Given the description of an element on the screen output the (x, y) to click on. 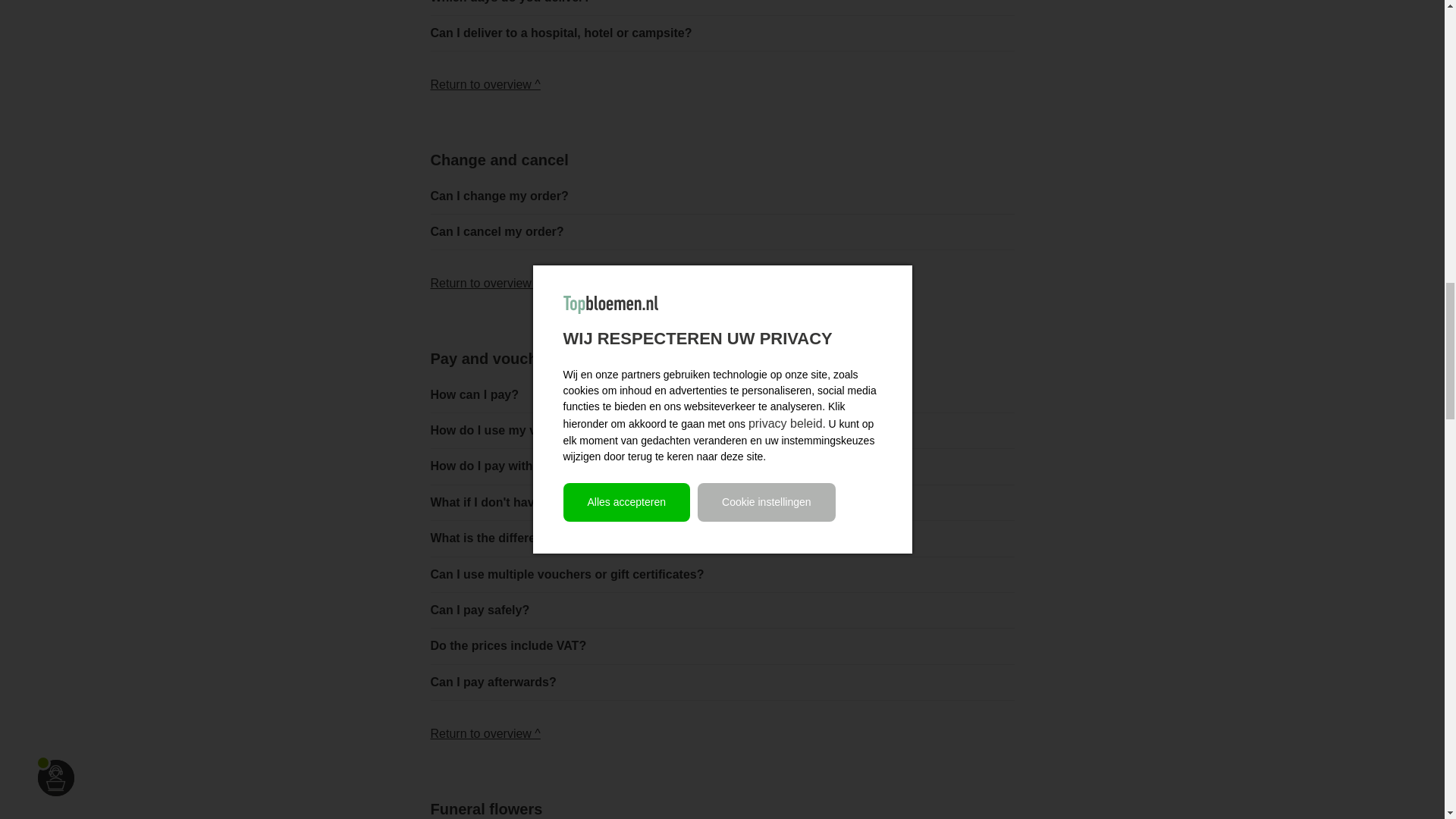
Verder zoeken (485, 282)
Verder zoeken (485, 83)
Verder zoeken (485, 733)
